Given the description of an element on the screen output the (x, y) to click on. 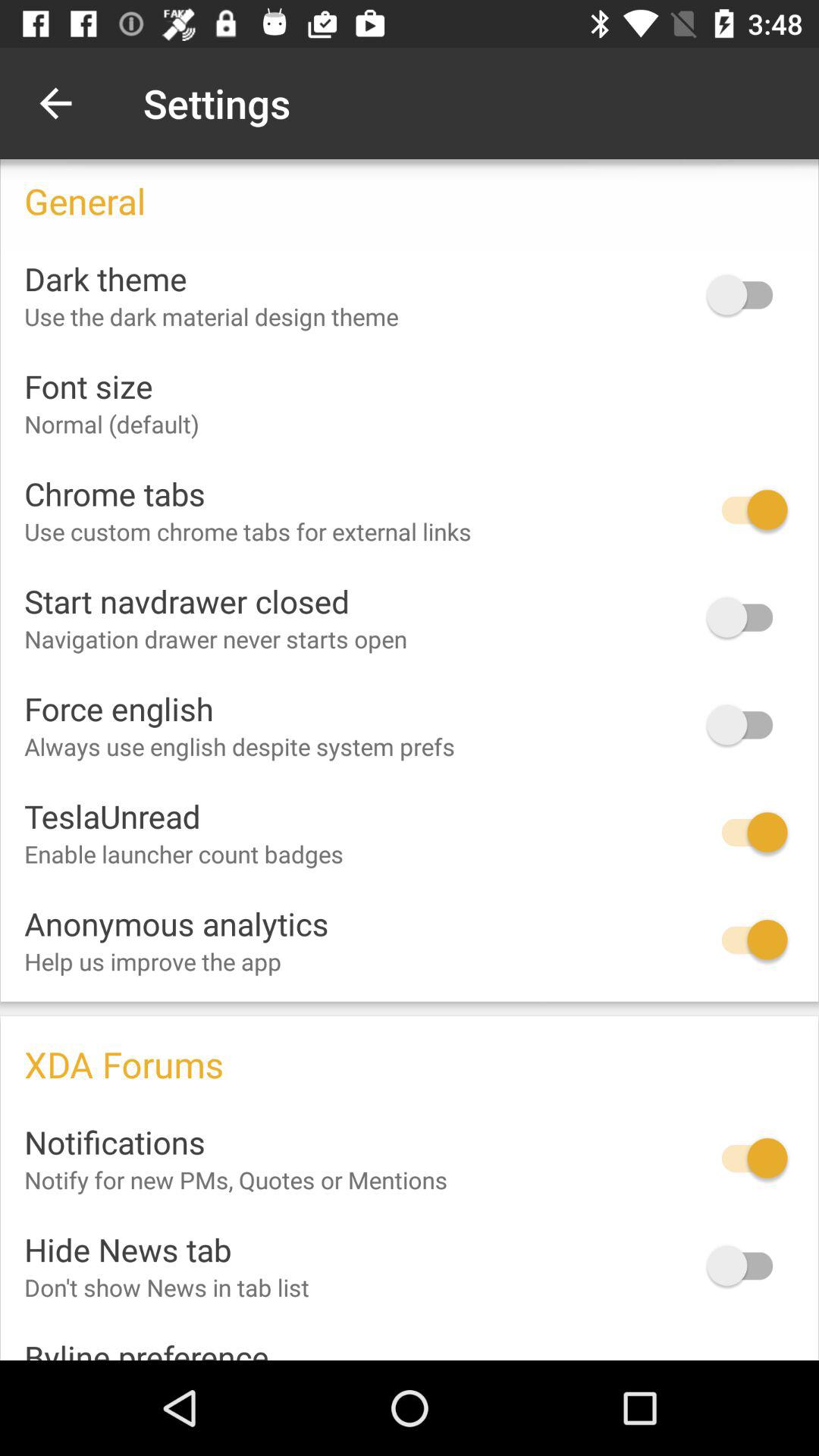
turn on dark theme (747, 294)
